Given the description of an element on the screen output the (x, y) to click on. 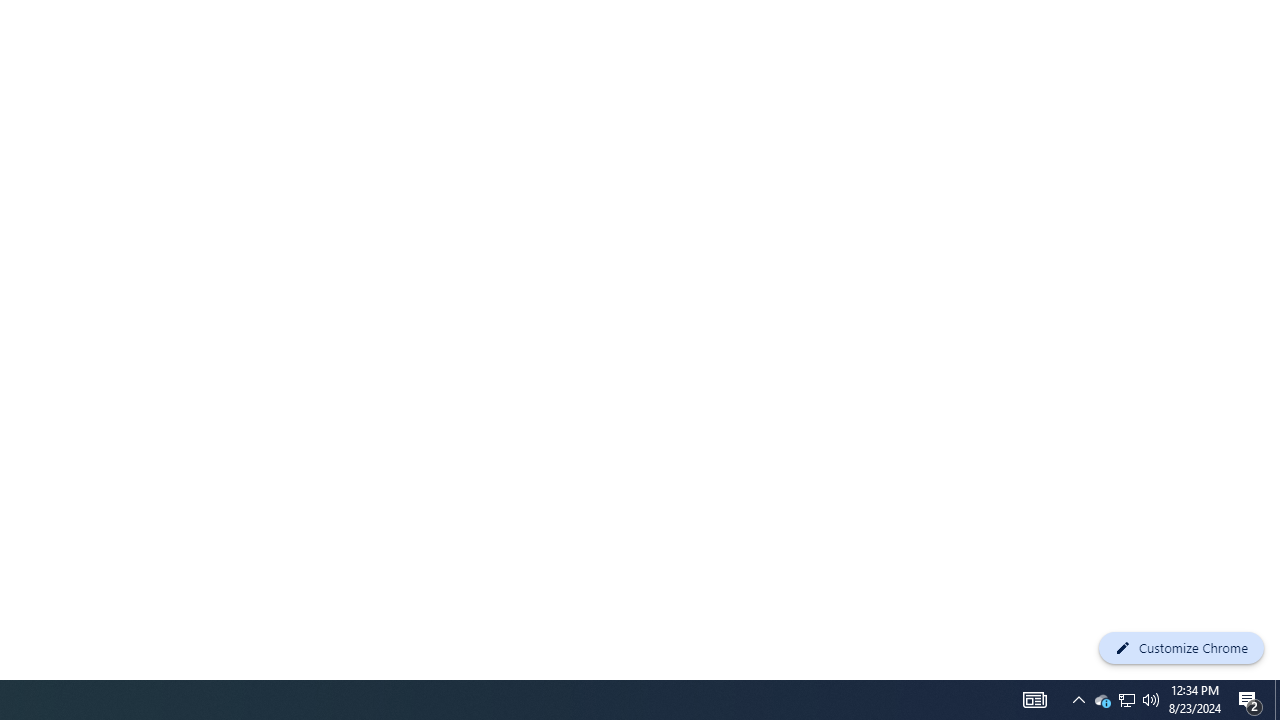
Customize Chrome (1181, 647)
